Given the description of an element on the screen output the (x, y) to click on. 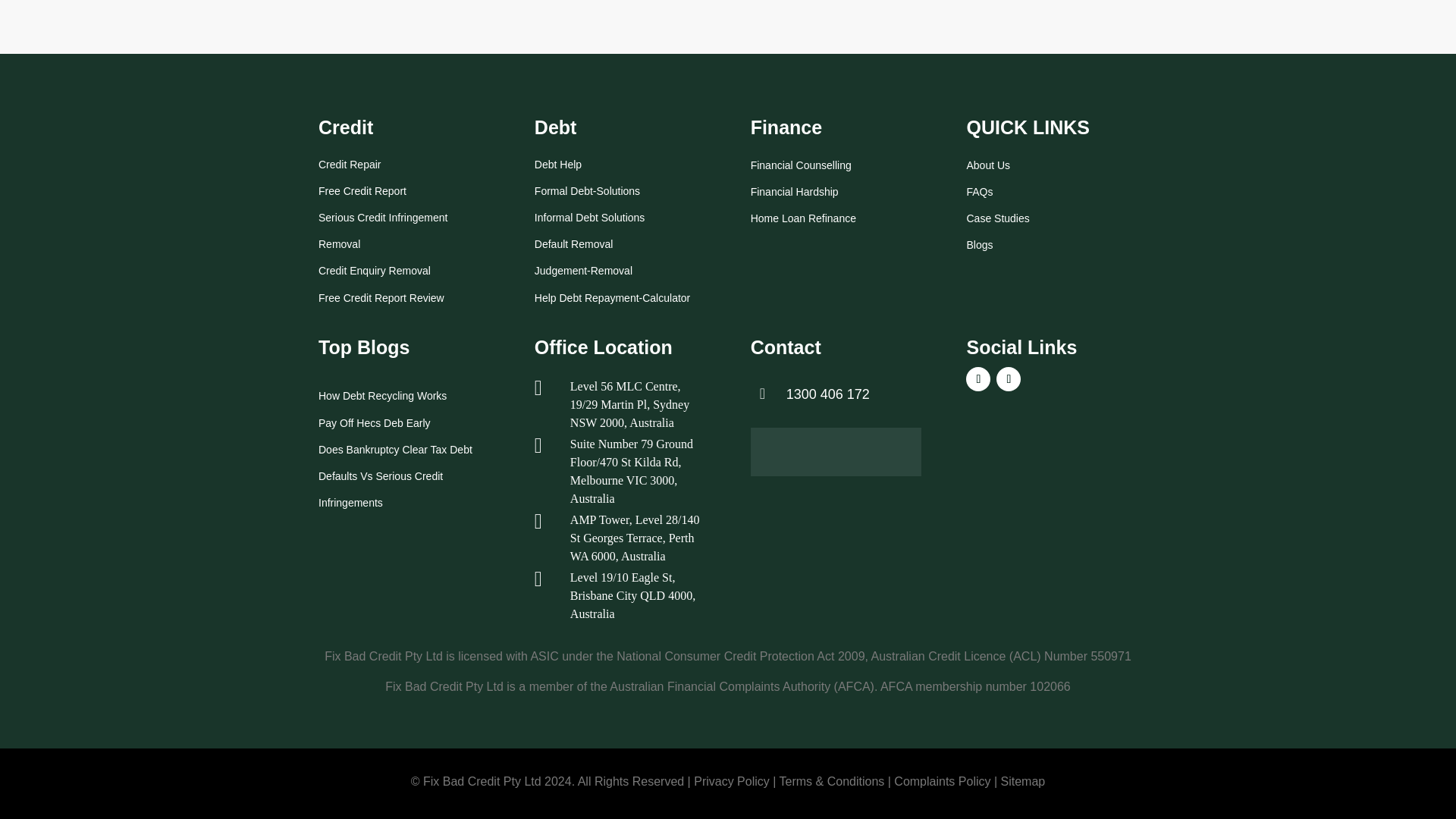
Follow on Instagram (1007, 378)
Free Credit Report Review (381, 296)
Debt Help (557, 163)
Serious Credit Infringement Removal (382, 229)
Free Credit Report (362, 190)
Credit Enquiry Removal (374, 269)
Credit Repair (349, 163)
Follow on Facebook (978, 378)
